Given the description of an element on the screen output the (x, y) to click on. 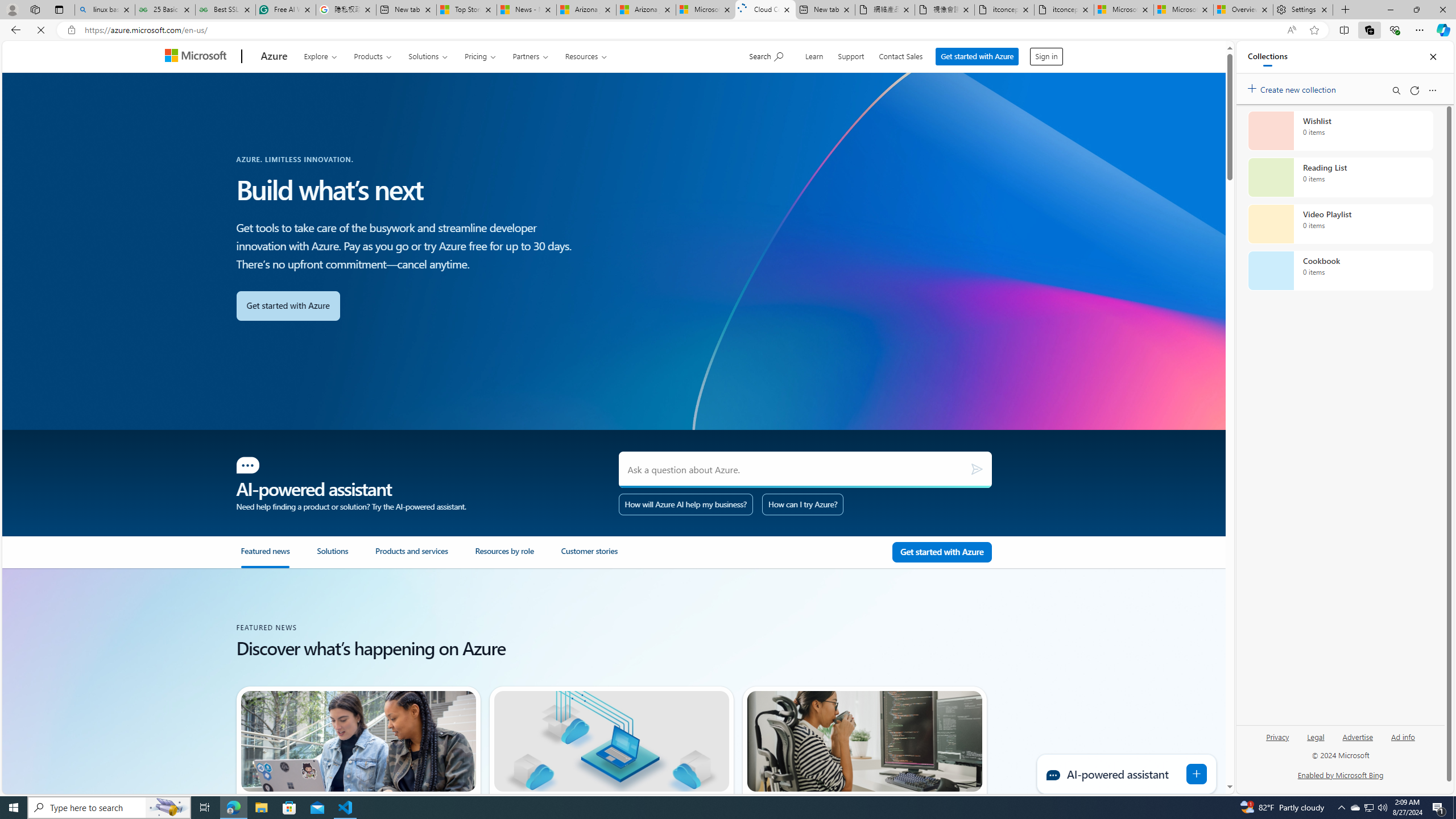
Submit (976, 469)
Wishlist collection, 0 items (1339, 130)
Resources by role (504, 555)
Cloud Computing Services | Microsoft Azure (765, 9)
Reading List collection, 0 items (1339, 177)
Show search input (767, 54)
Customer stories (588, 555)
Ask a question about Azure. (804, 469)
Create new collection (1293, 87)
